Given the description of an element on the screen output the (x, y) to click on. 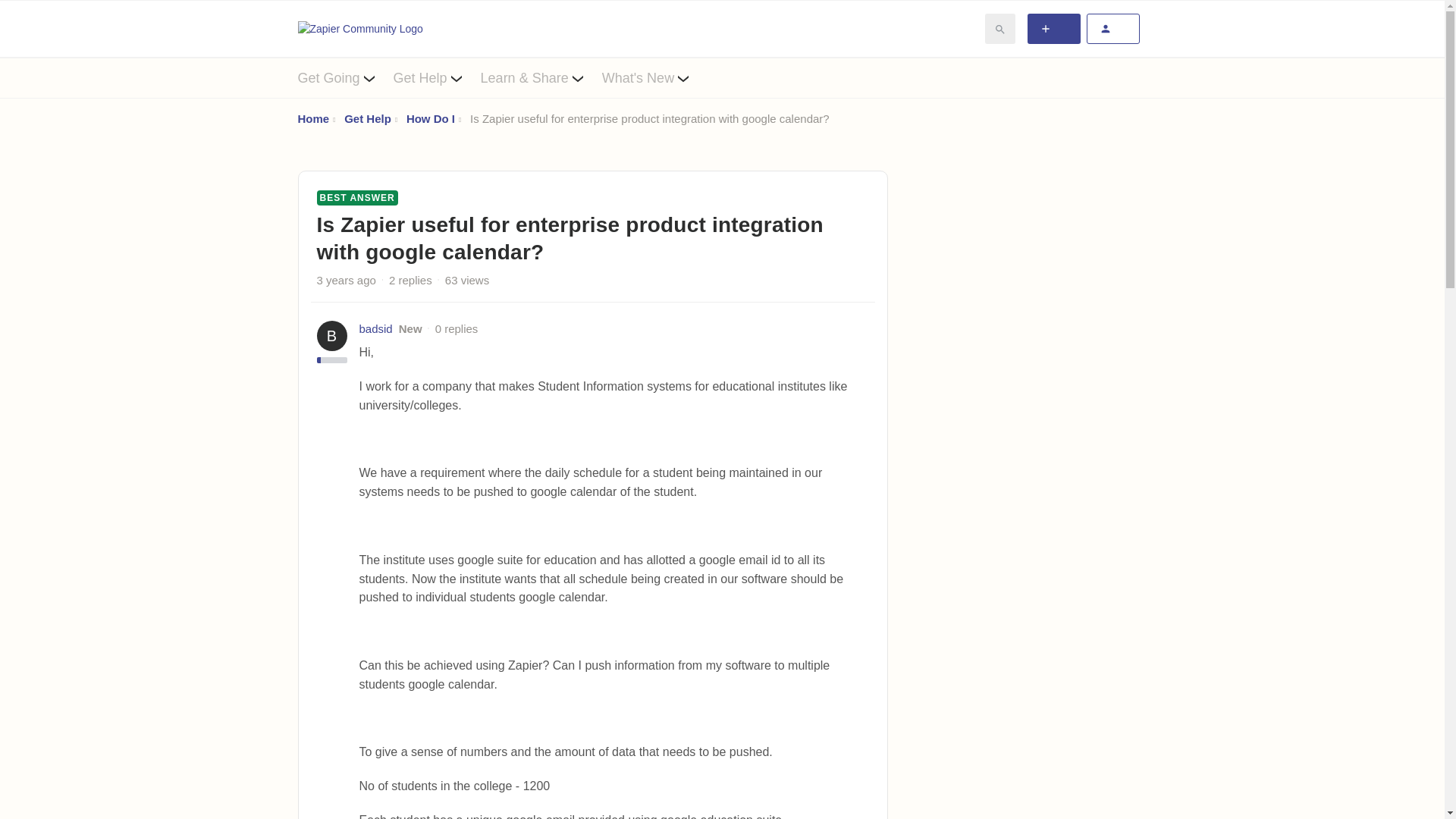
badsid (376, 329)
Get Help (436, 77)
What's New (654, 77)
Home (313, 118)
Get Going (345, 77)
Get Help (367, 118)
